Given the description of an element on the screen output the (x, y) to click on. 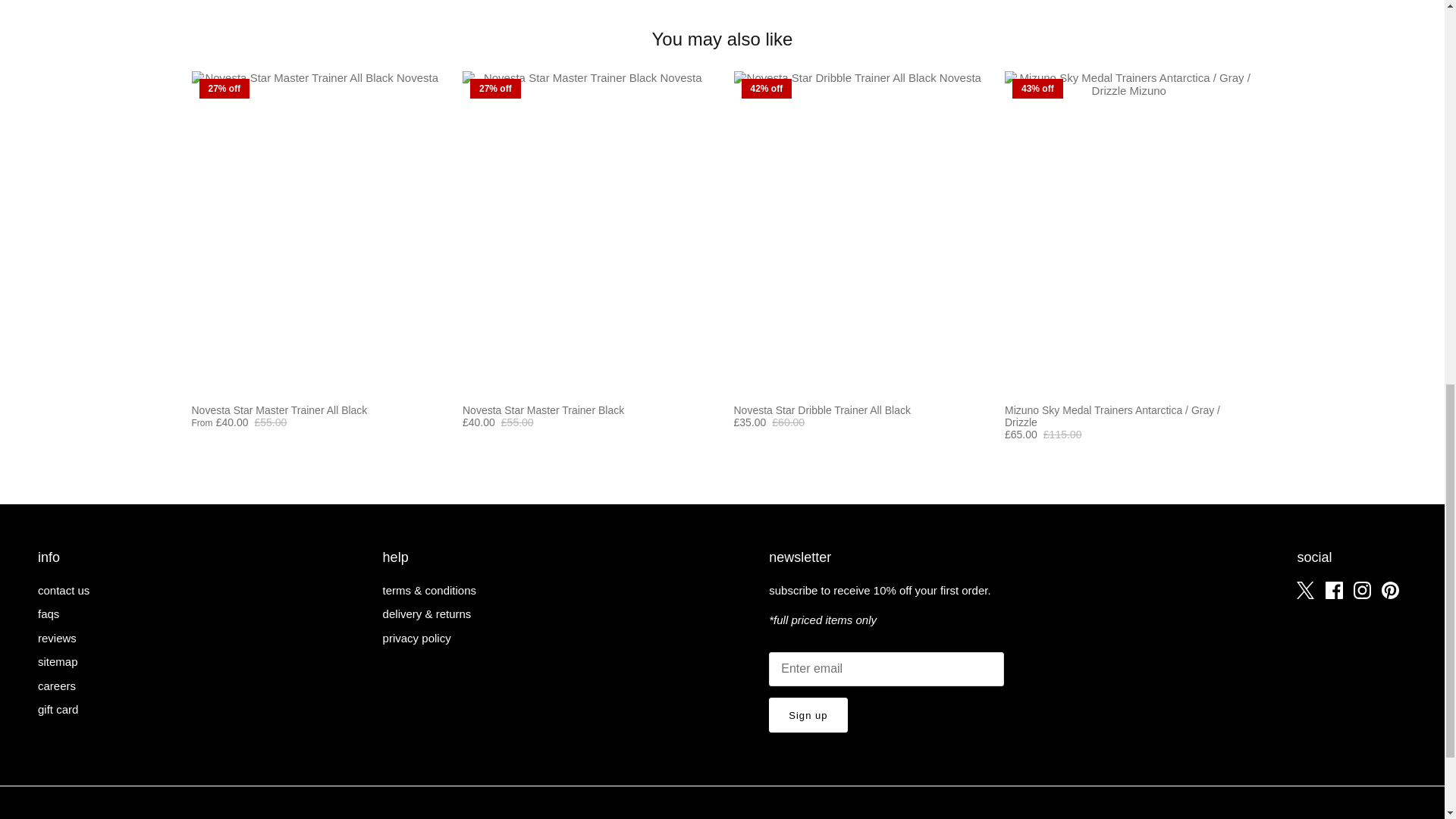
Instagram (1362, 589)
Pinterest (1390, 589)
Facebook (1333, 589)
